Given the description of an element on the screen output the (x, y) to click on. 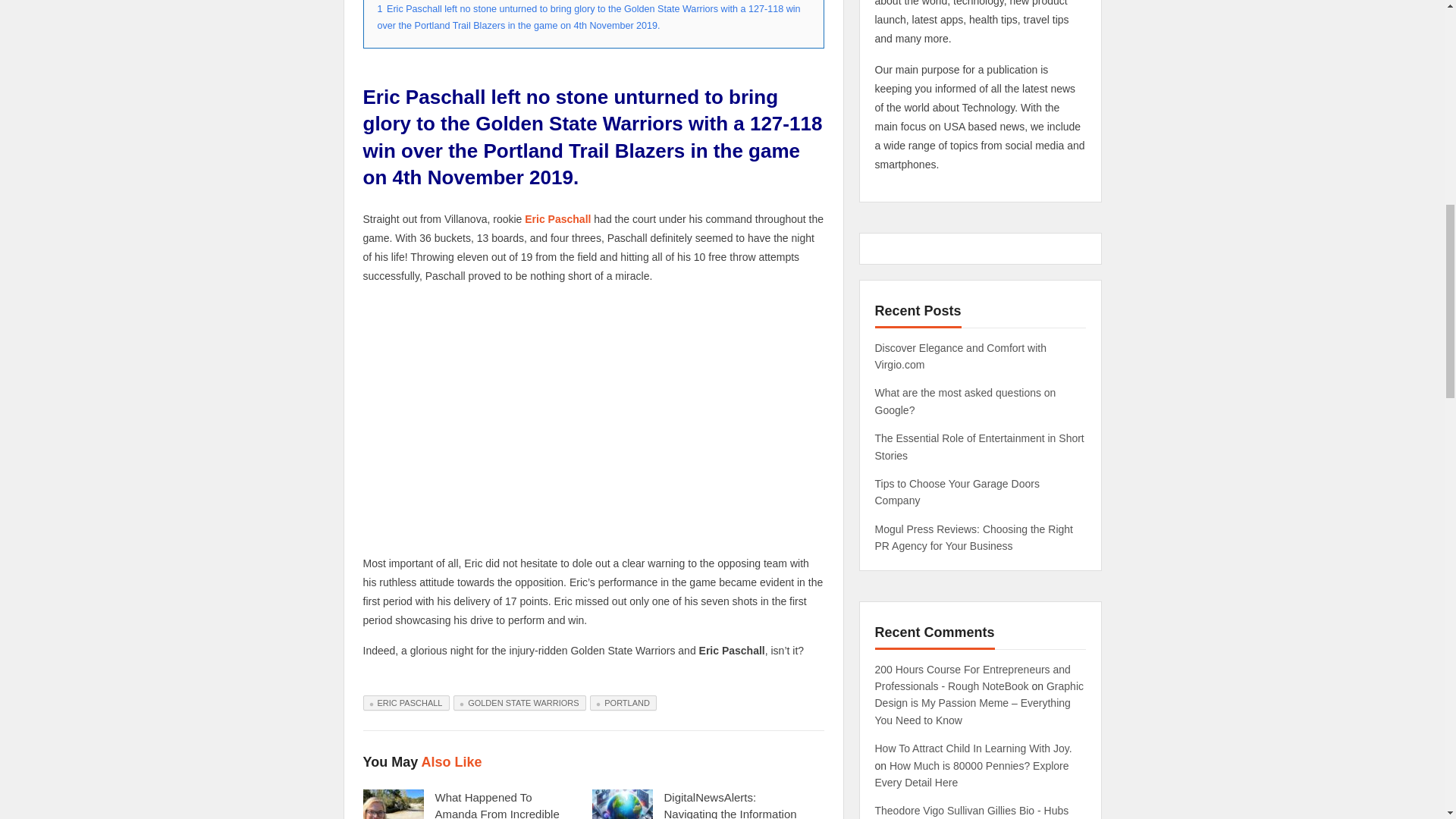
PORTLAND (622, 702)
Eric Paschall (557, 218)
ERIC PASCHALL (405, 702)
GOLDEN STATE WARRIORS (518, 702)
What Happened To Amanda From Incredible Tiny Homes (497, 805)
